Given the description of an element on the screen output the (x, y) to click on. 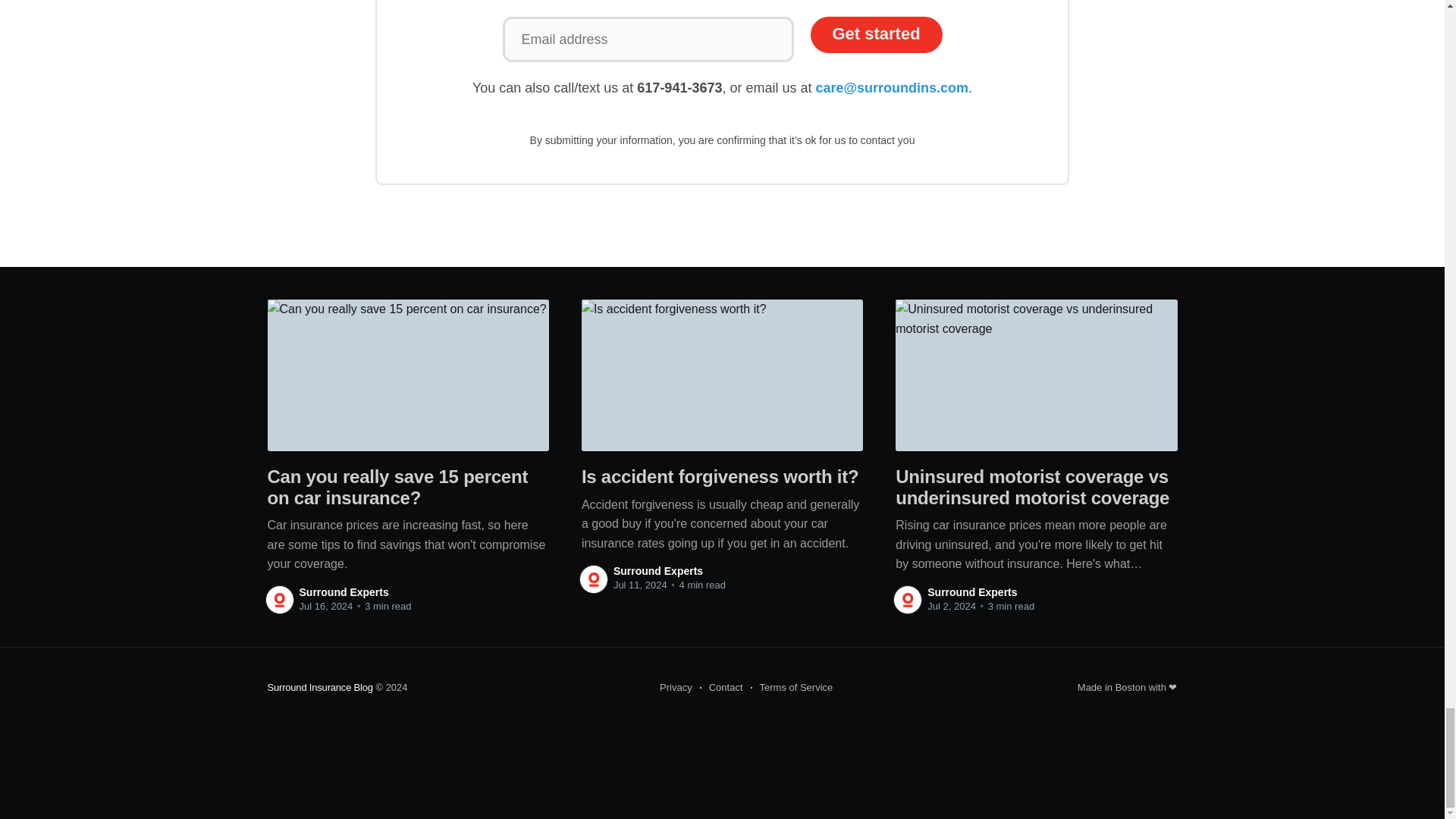
Surround Experts (657, 571)
Surround Experts (343, 592)
Get started (875, 34)
Surround Insurance Blog (319, 686)
Contact (721, 686)
Privacy (676, 686)
Terms of Service (791, 686)
